Given the description of an element on the screen output the (x, y) to click on. 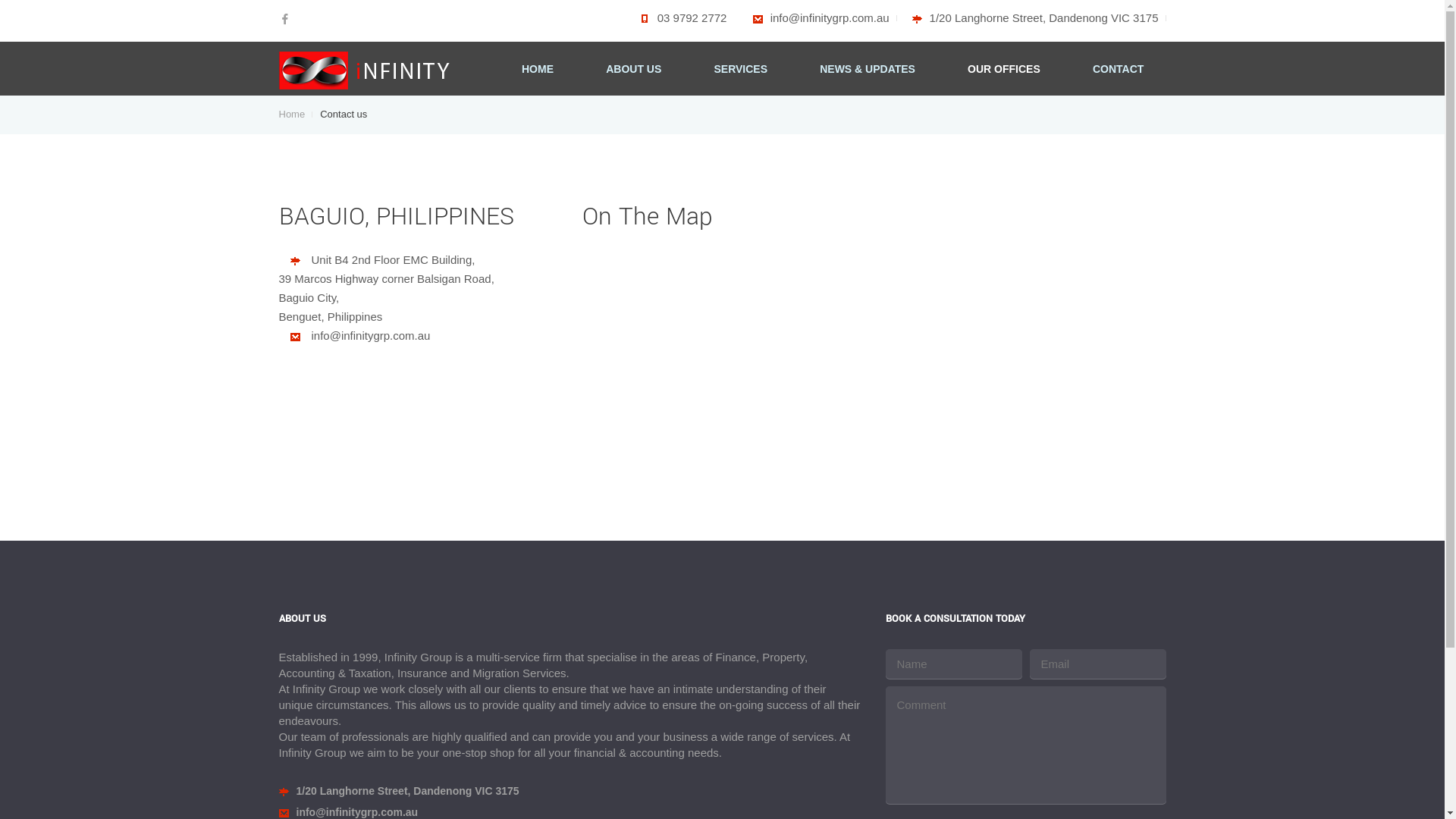
OUR OFFICES Element type: text (1003, 69)
SERVICES Element type: text (740, 69)
03 9792 2772 Element type: text (679, 17)
ABOUT US Element type: text (633, 69)
NEWS & UPDATES Element type: text (867, 69)
Home Element type: text (296, 113)
CONTACT Element type: text (1117, 69)
HOME Element type: text (537, 69)
info@infinitygrp.com.au Element type: text (820, 17)
